Given the description of an element on the screen output the (x, y) to click on. 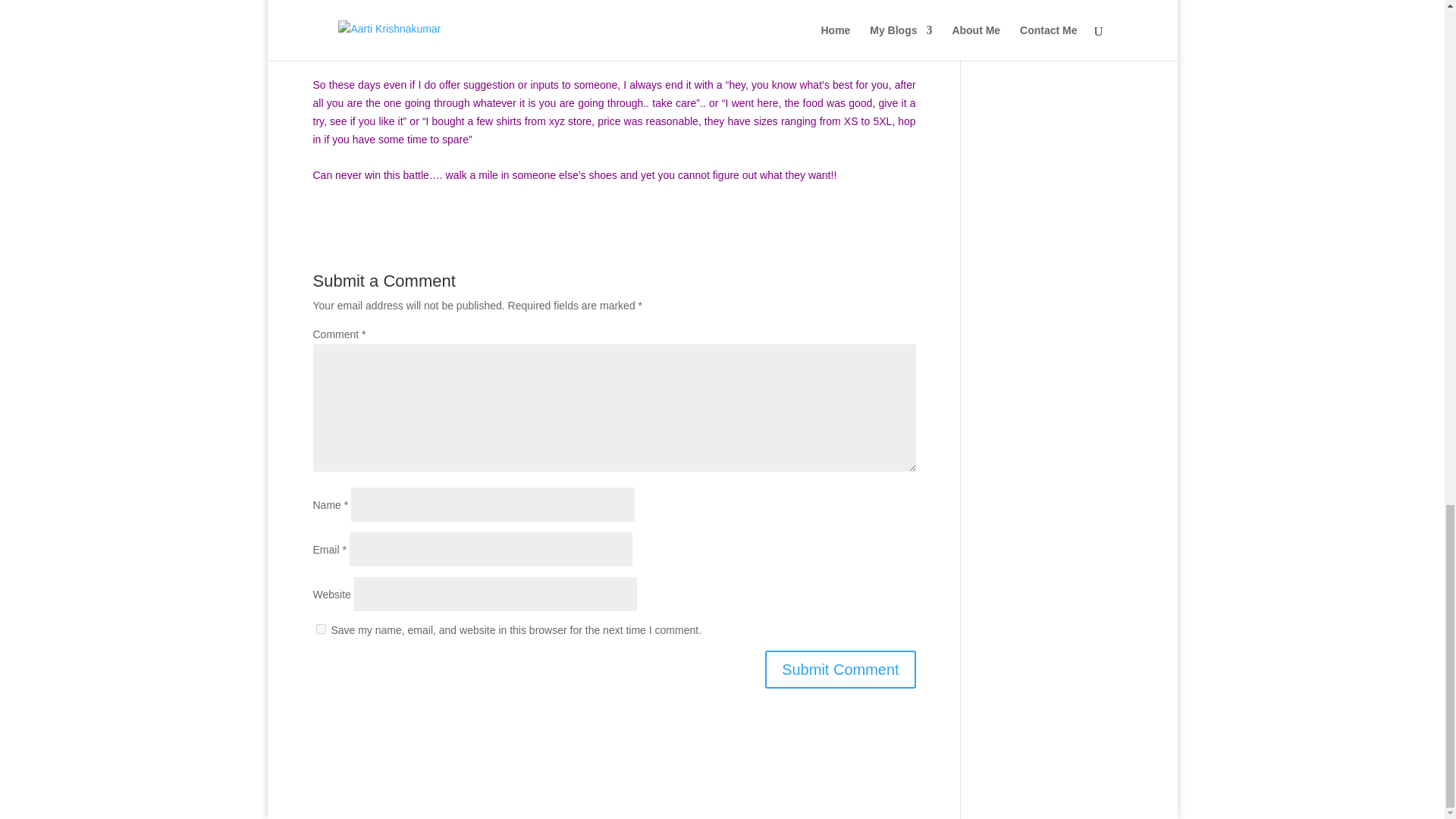
yes (319, 628)
Submit Comment (840, 669)
Submit Comment (840, 669)
